Given the description of an element on the screen output the (x, y) to click on. 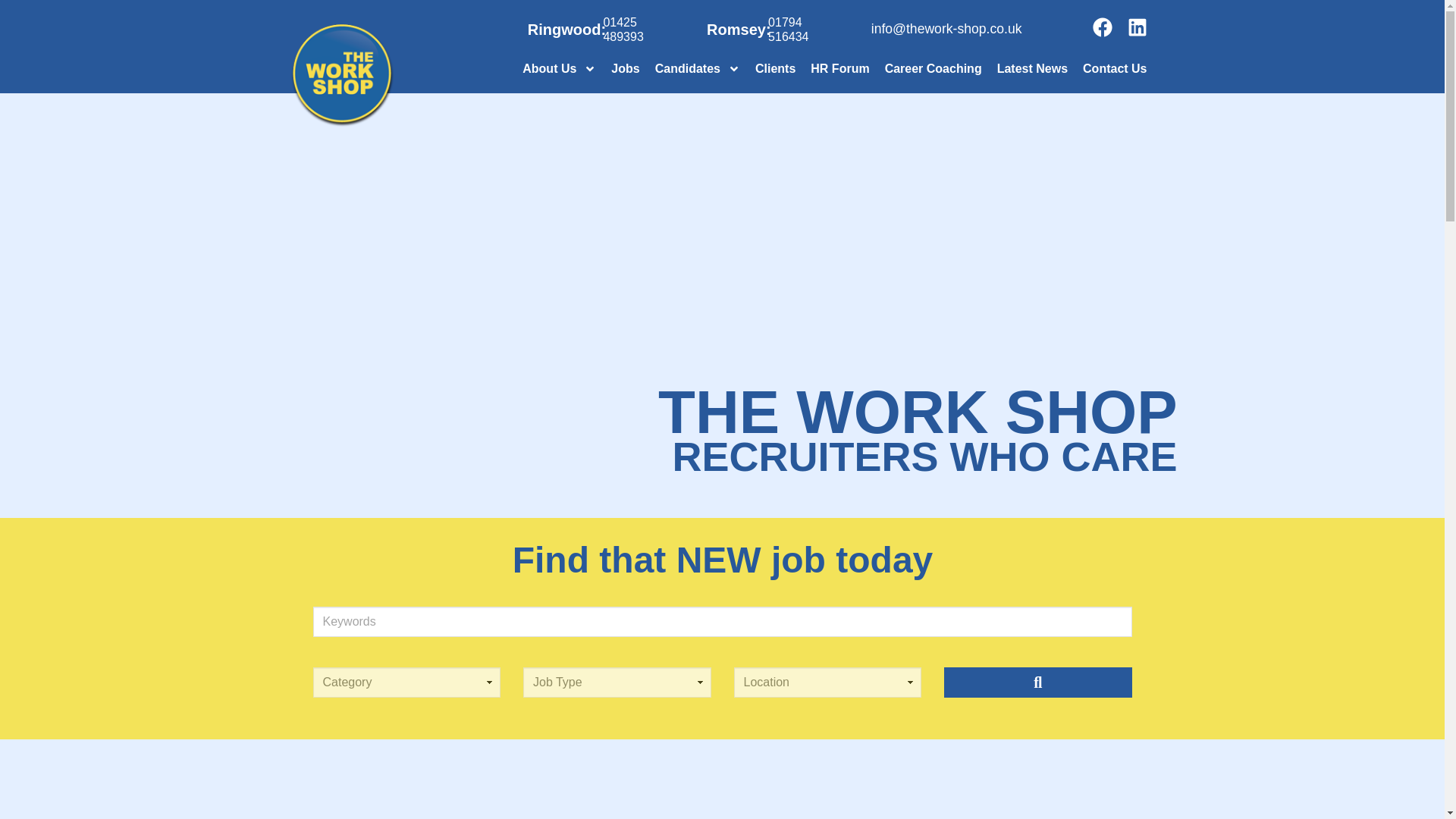
Contact Us (1114, 68)
Clients (775, 68)
About Us (559, 68)
Career Coaching (933, 68)
Latest News (1032, 68)
Jobs (625, 68)
Candidates (697, 68)
HR Forum (839, 68)
